Given the description of an element on the screen output the (x, y) to click on. 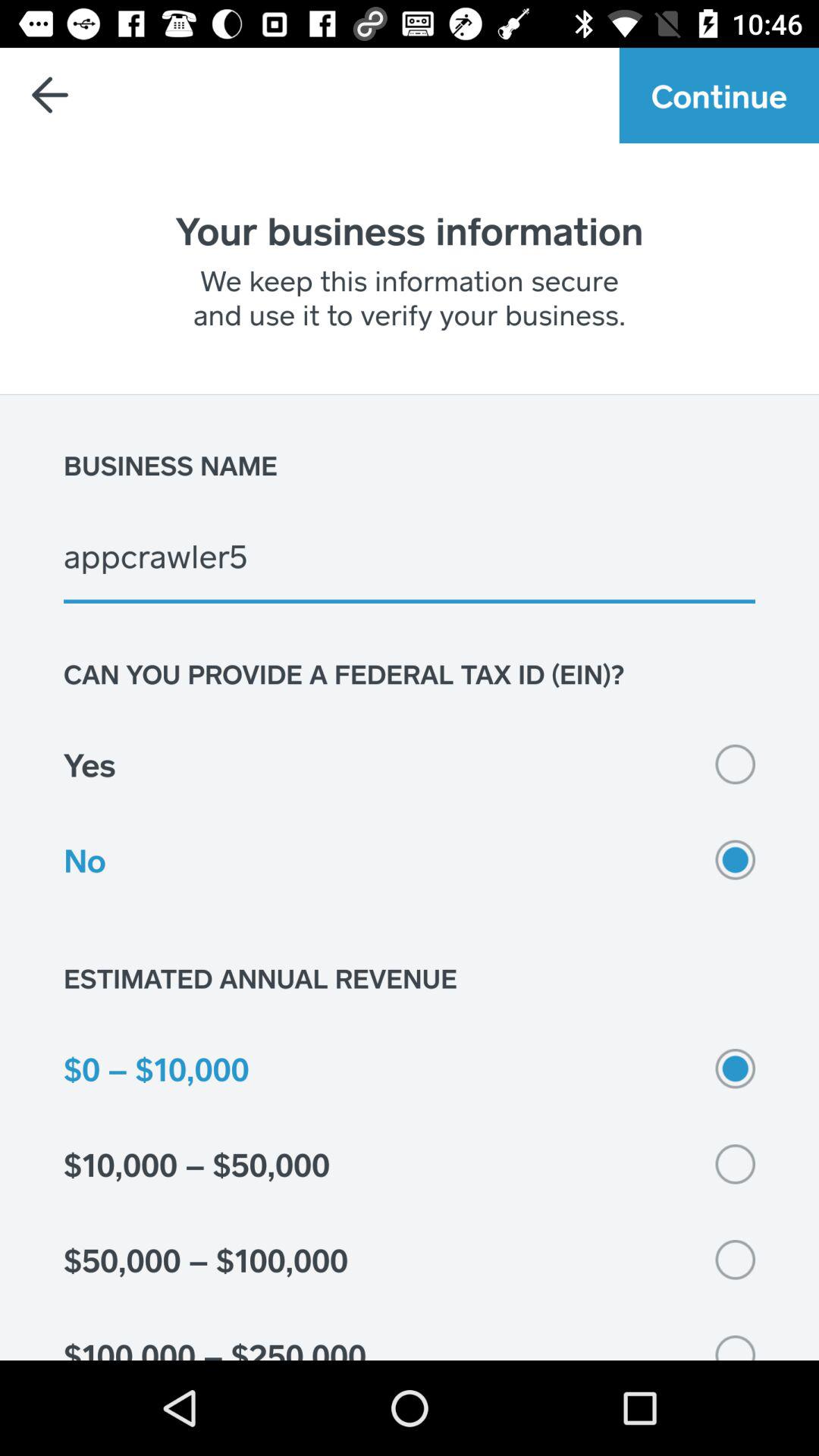
scroll to no (409, 859)
